Given the description of an element on the screen output the (x, y) to click on. 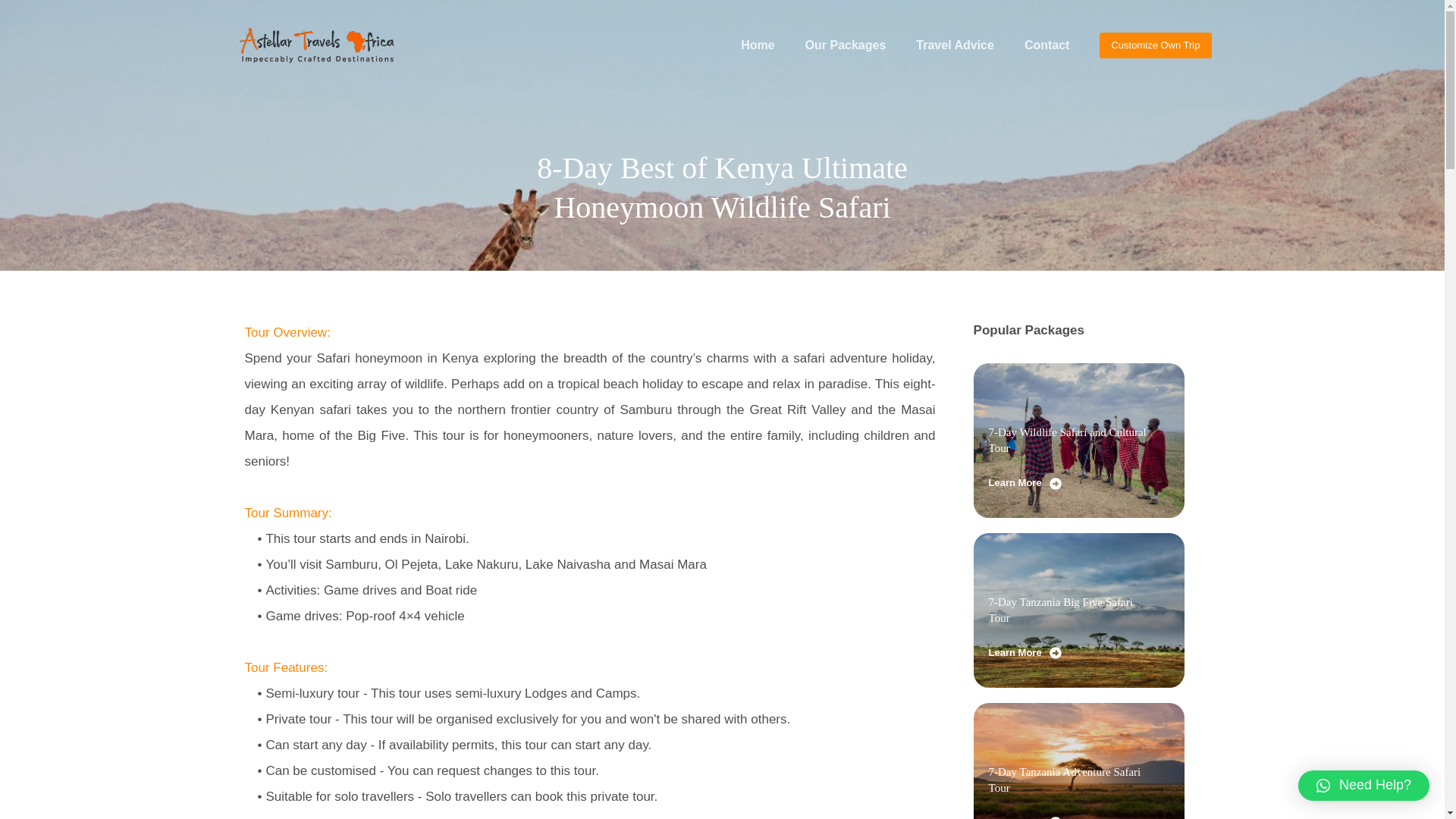
Learn More (1024, 815)
Our Packages (845, 45)
Need Help? (1363, 785)
Customize Own Trip (1155, 45)
Travel Advice (955, 45)
Skip to content (15, 7)
Learn More (1024, 653)
Learn More (1024, 483)
